Given the description of an element on the screen output the (x, y) to click on. 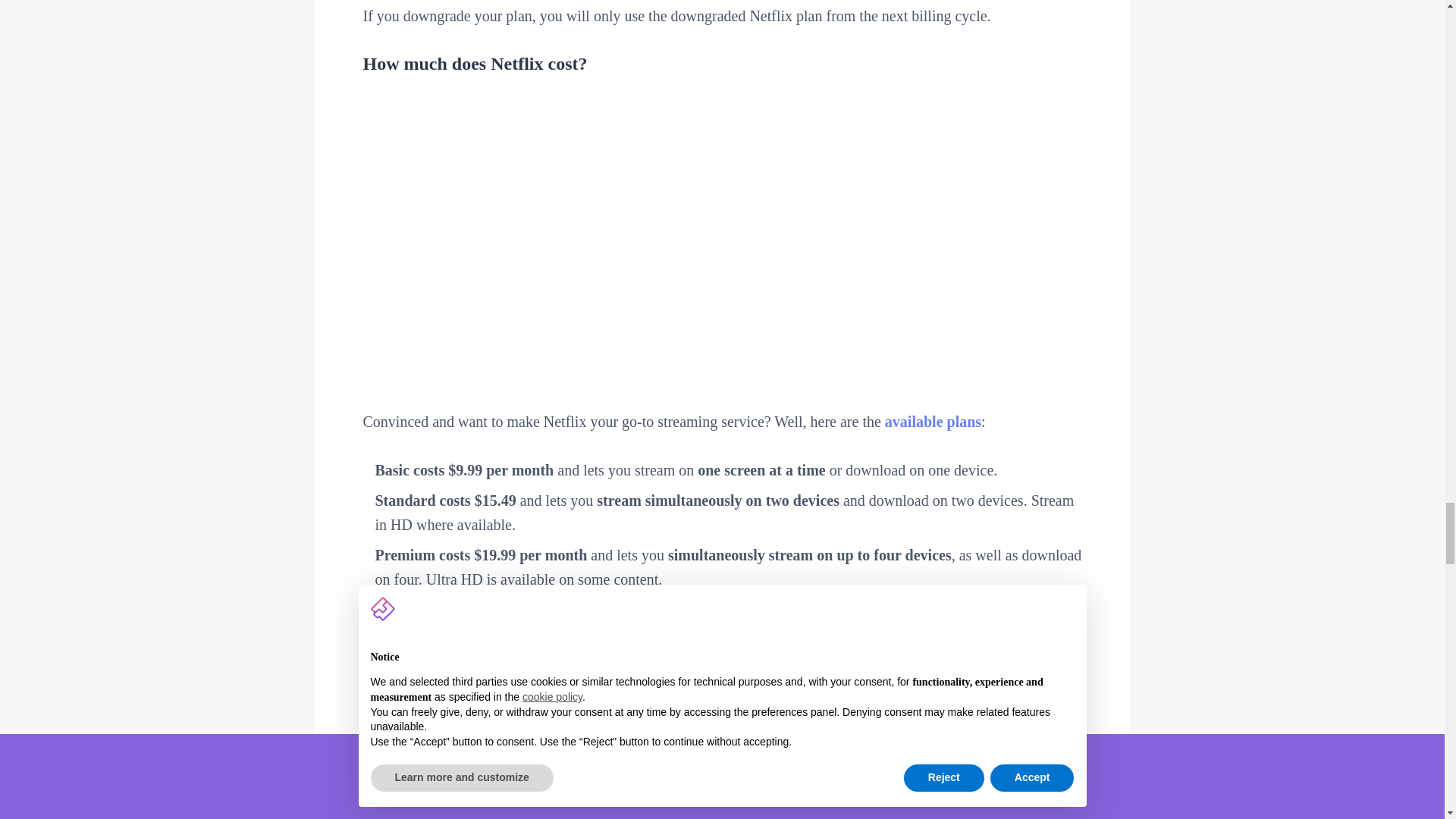
available plans (933, 421)
share with up to three other people (705, 695)
How to save money on Netflix (721, 627)
How much does Netflix cost? (721, 64)
Together Price (623, 756)
